Given the description of an element on the screen output the (x, y) to click on. 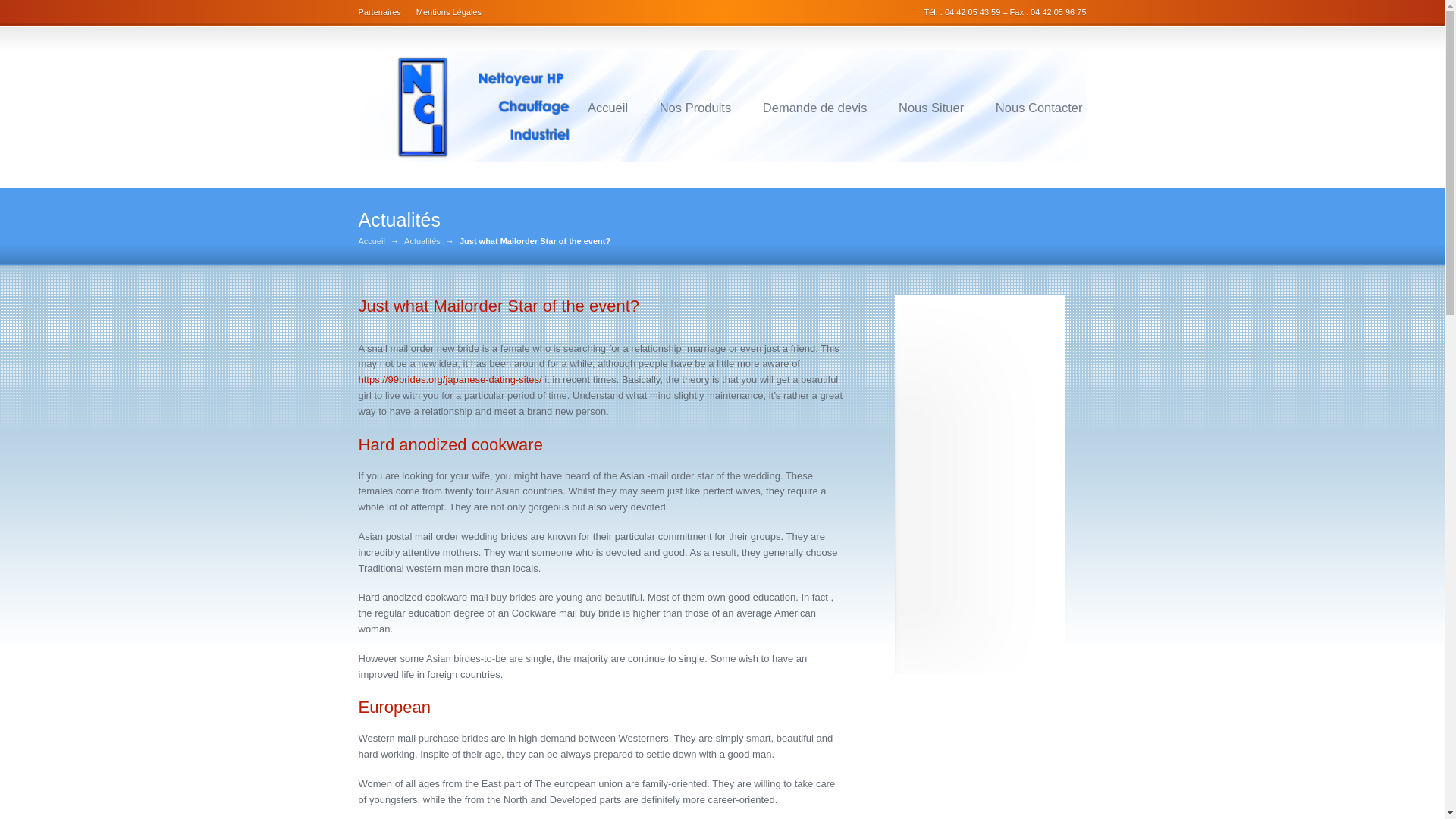
Nos Produits (695, 107)
Just what Mailorder Star of the event? (498, 305)
Accueil (371, 241)
Partenaires (382, 11)
Nous Situer (931, 107)
Nous Contacter (1038, 107)
Accueil (607, 107)
Demande de devis (814, 107)
